Given the description of an element on the screen output the (x, y) to click on. 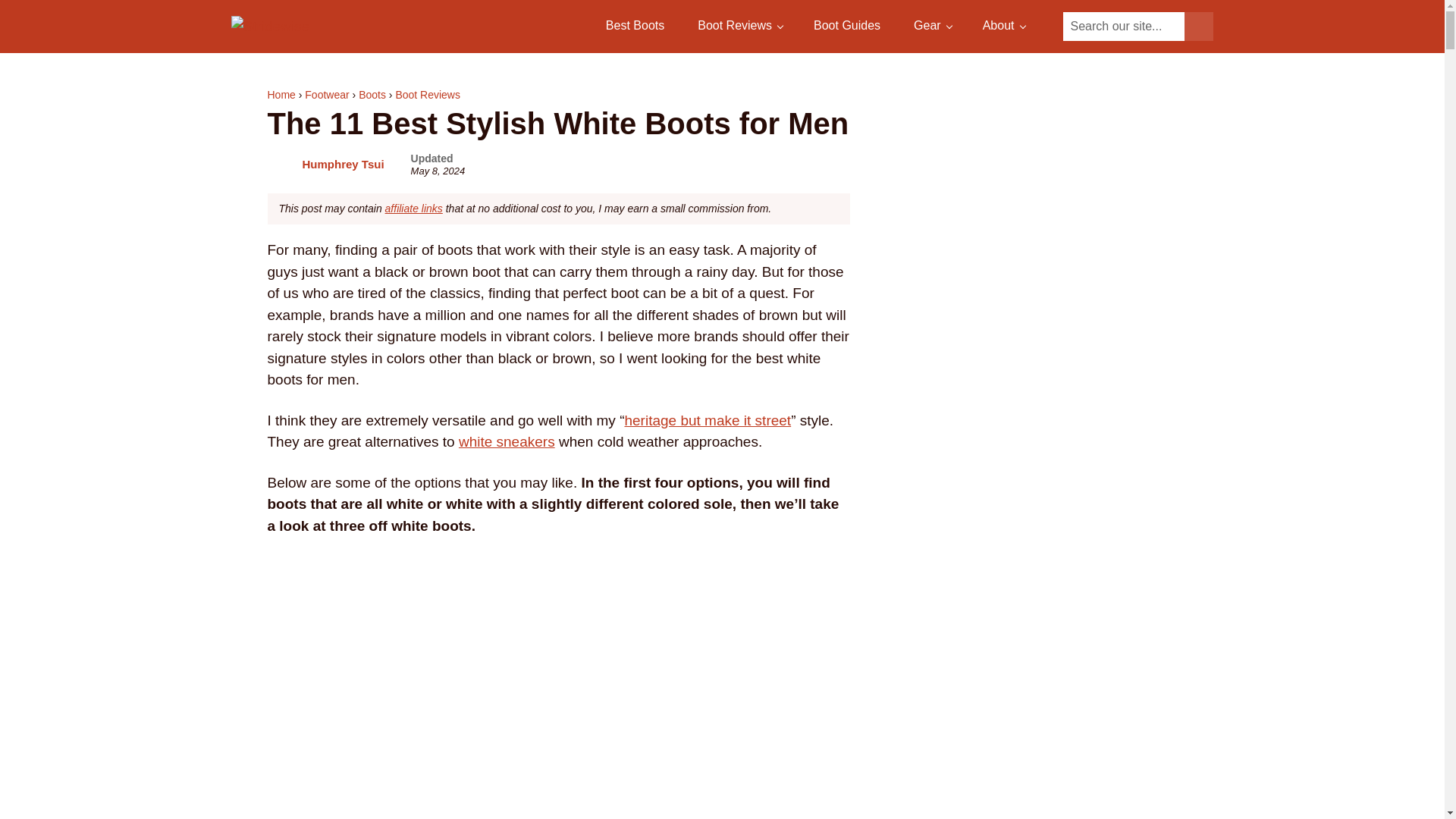
Home (280, 94)
Best Boots (634, 25)
Submit search (1198, 26)
About (1003, 25)
Submit search (1198, 26)
Boot Reviews (738, 25)
Submit search (1198, 26)
Boot Guides (847, 25)
Gear (931, 25)
